Given the description of an element on the screen output the (x, y) to click on. 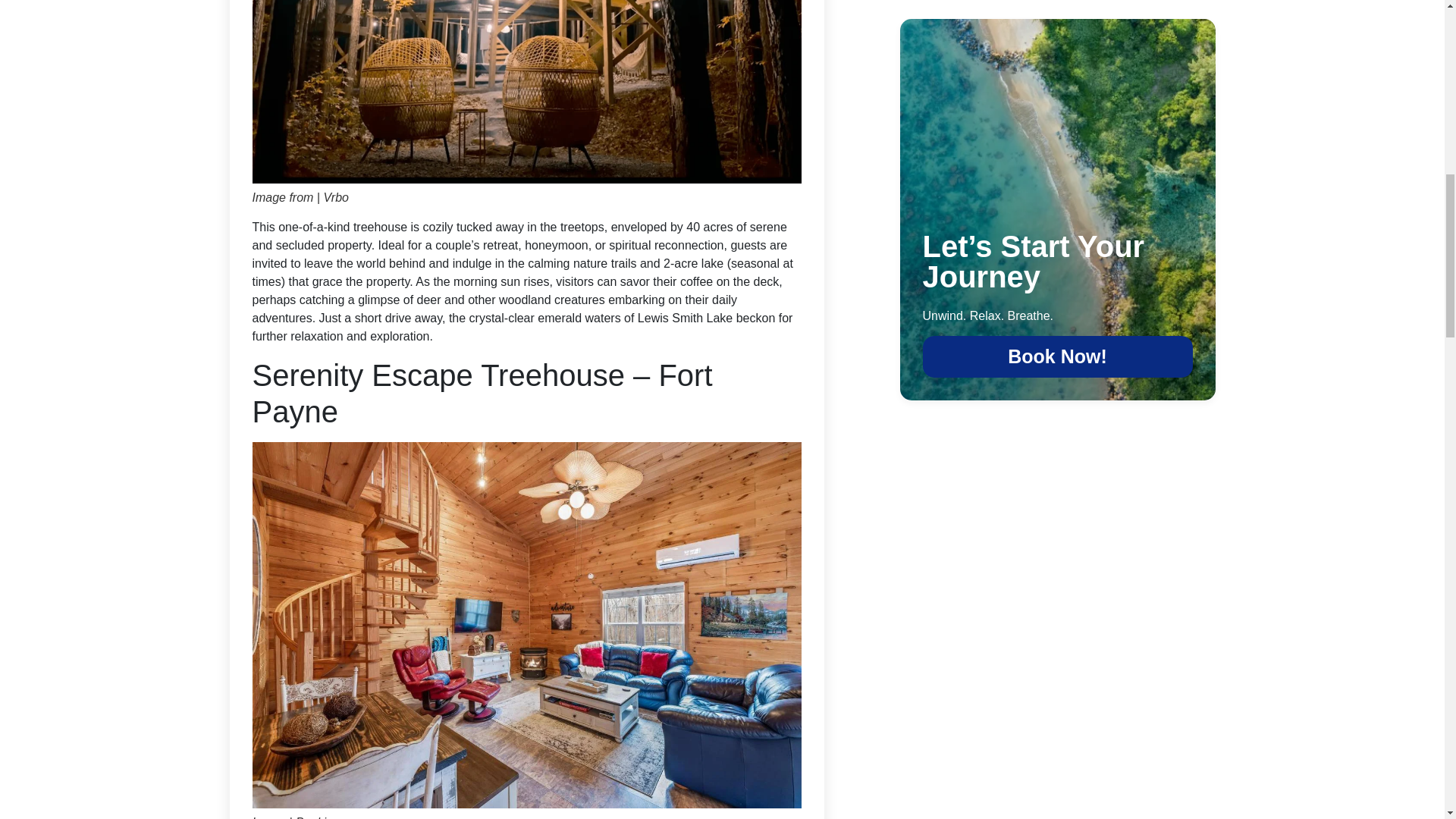
Book Now! (1056, 356)
